Given the description of an element on the screen output the (x, y) to click on. 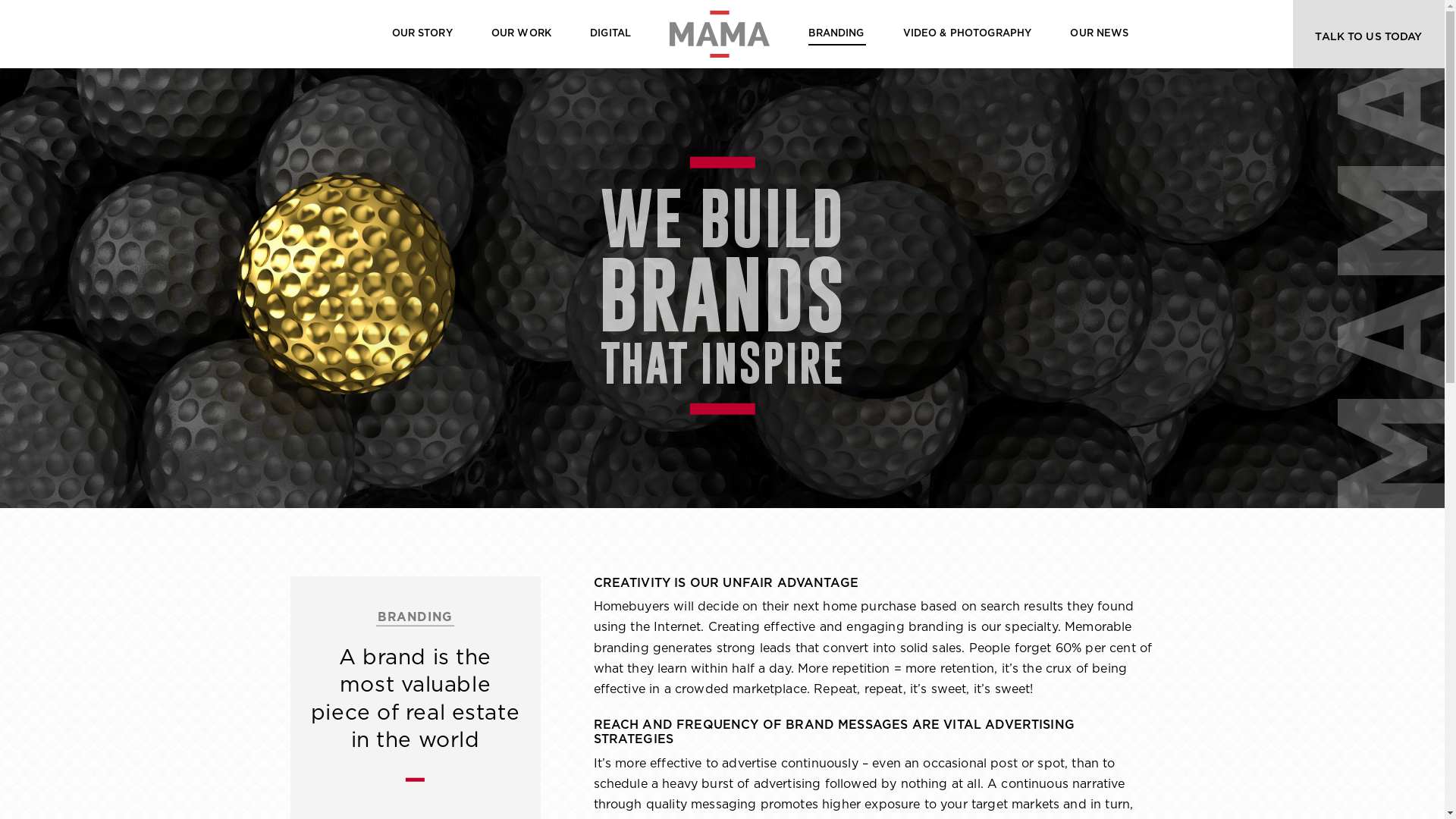
OUR STORY Element type: text (421, 34)
BRANDING Element type: text (835, 34)
Skip to content Element type: text (1443, 0)
TALK TO US TODAY Element type: text (1368, 34)
VIDEO & PHOTOGRAPHY Element type: text (966, 34)
OUR NEWS Element type: text (1099, 34)
OUR WORK Element type: text (520, 34)
  Element type: hover (719, 33)
DIGITAL Element type: text (610, 34)
